Given the description of an element on the screen output the (x, y) to click on. 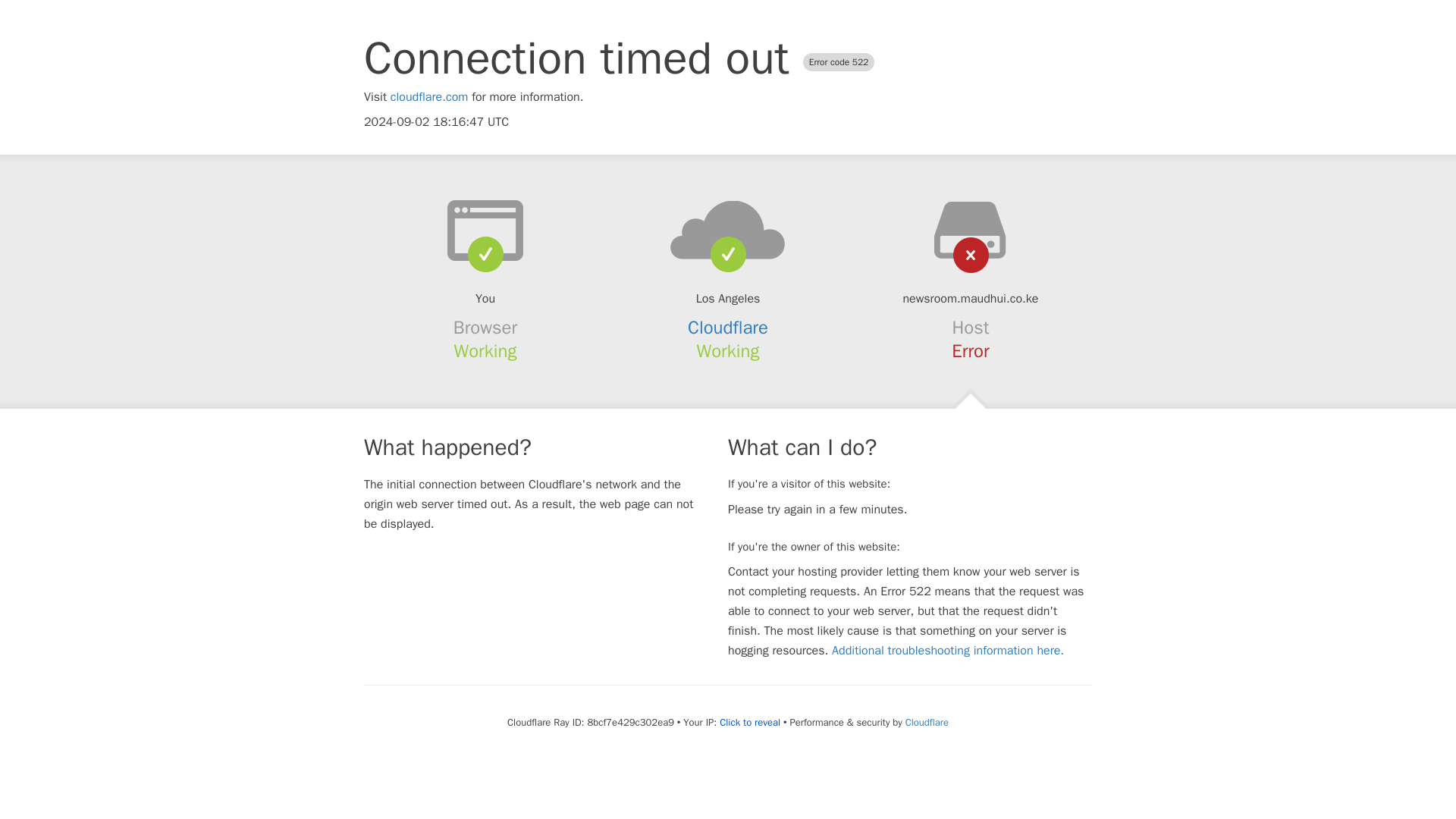
Click to reveal (749, 722)
cloudflare.com (429, 96)
Cloudflare (927, 721)
Additional troubleshooting information here. (947, 650)
Cloudflare (727, 327)
